Given the description of an element on the screen output the (x, y) to click on. 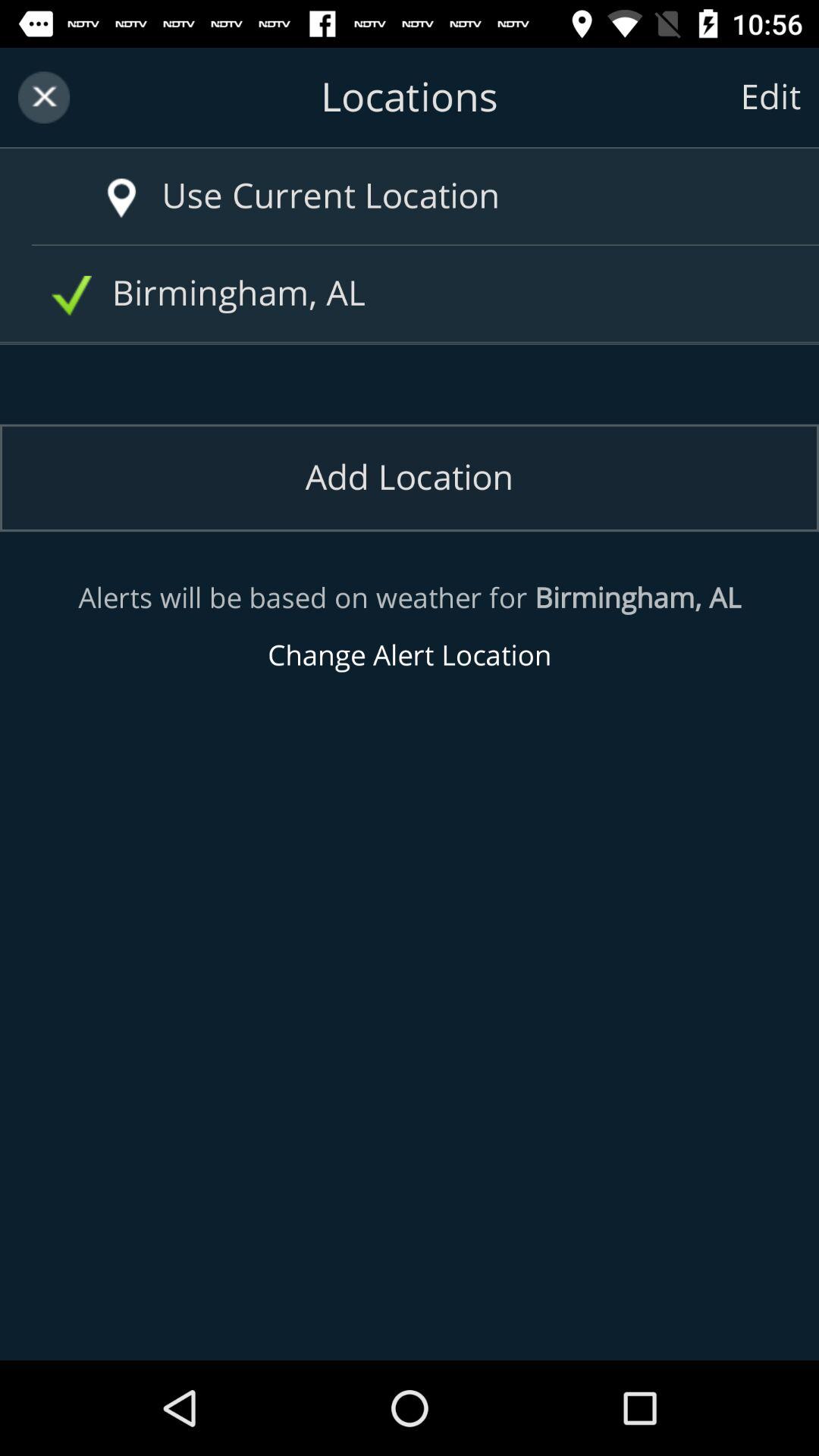
select the text right to locations (770, 97)
click on use current location (440, 196)
select the text which is after tick mark (415, 294)
select the tick mark left to birmingham al (71, 295)
